Given the description of an element on the screen output the (x, y) to click on. 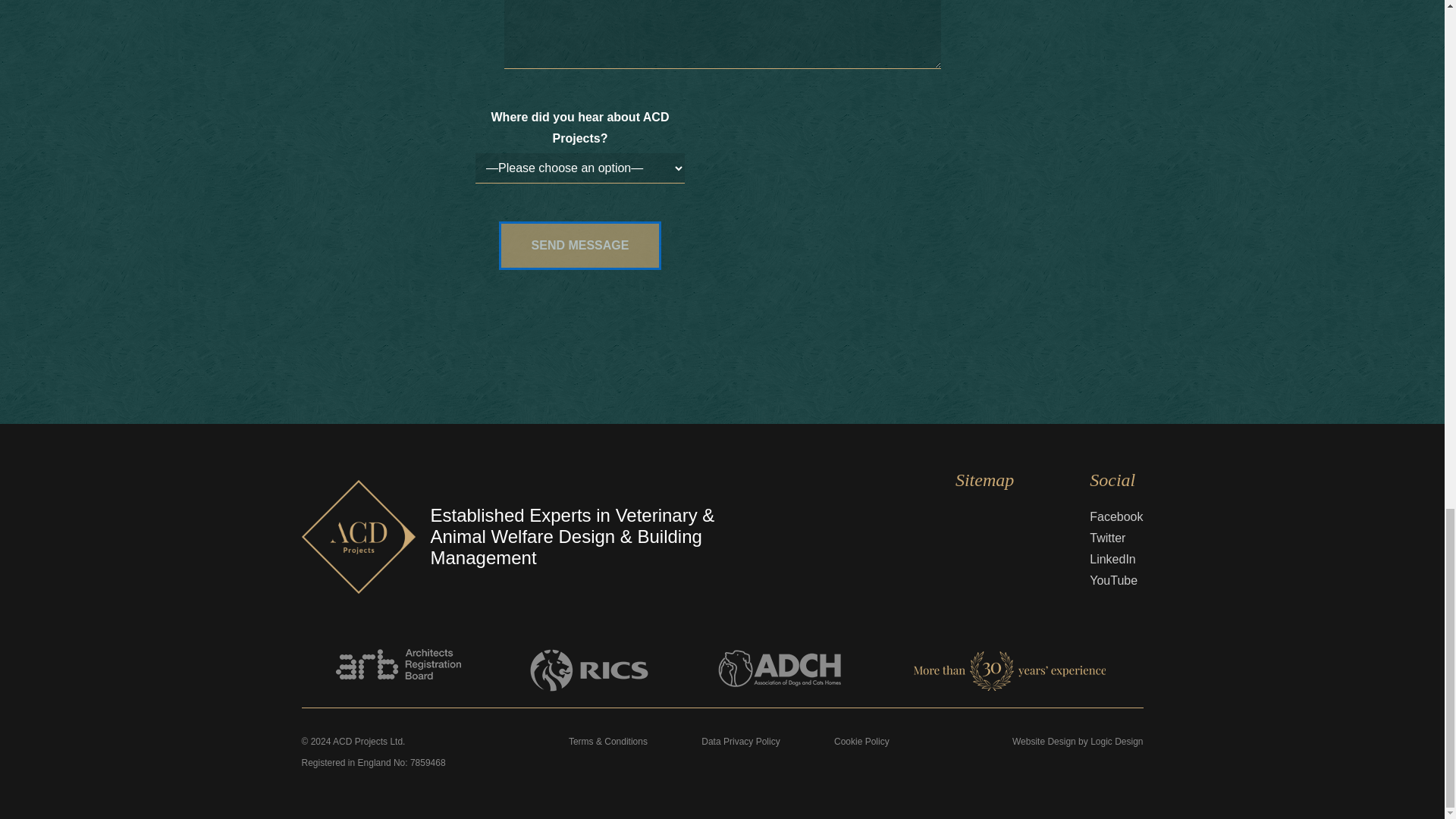
Send Message (580, 245)
